Given the description of an element on the screen output the (x, y) to click on. 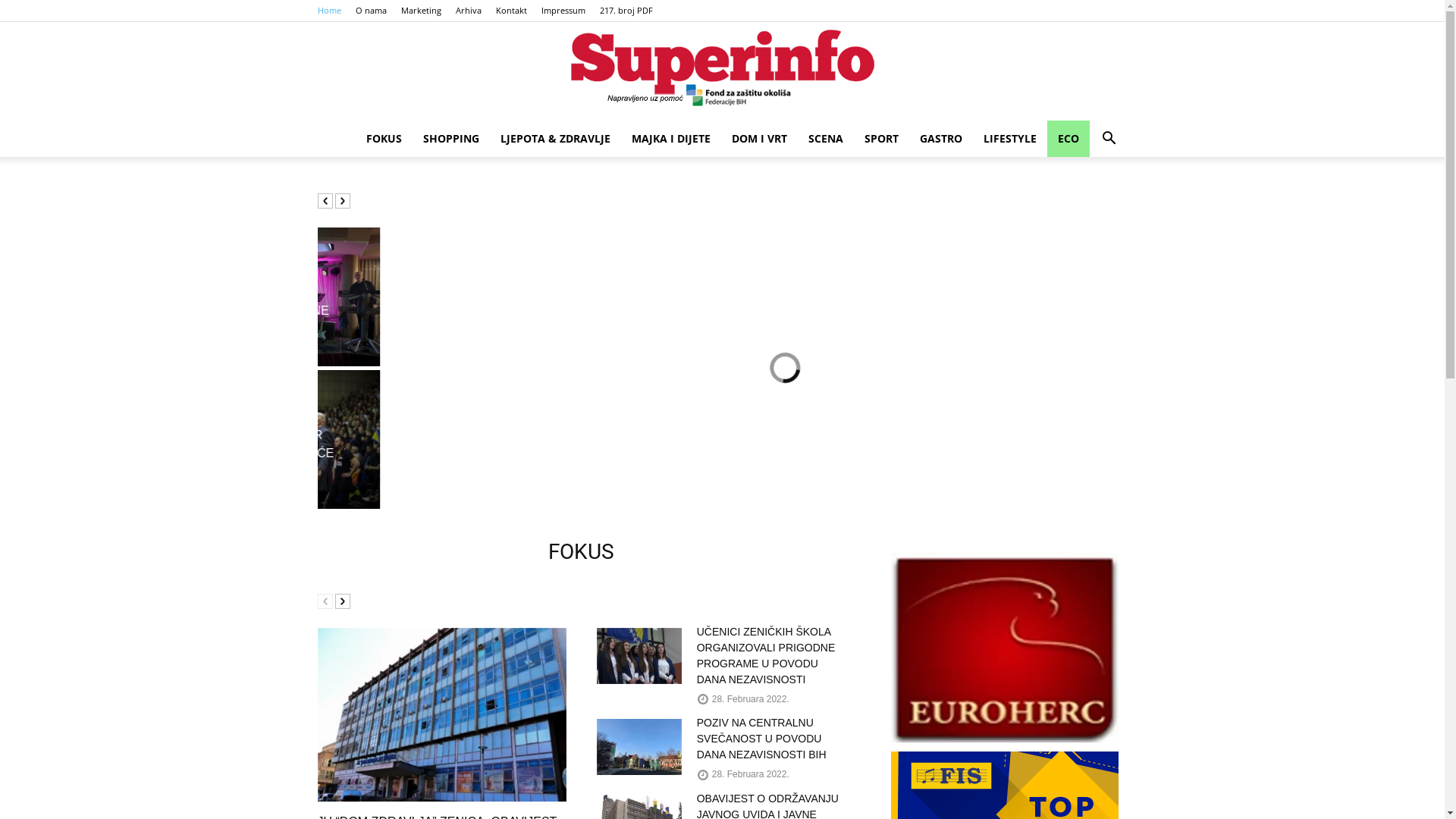
MAJKA I DIJETE Element type: text (670, 138)
Arhiva Element type: text (467, 9)
Home Element type: text (328, 9)
SCENA Element type: text (825, 138)
SPORT Element type: text (881, 138)
Impressum Element type: text (563, 9)
GASTRO Element type: text (940, 138)
SHOPPING Element type: text (450, 138)
217. broj PDF Element type: text (625, 9)
O nama Element type: text (369, 9)
MUP ZDK prodaje 12 vozila Element type: hover (214, 441)
Marketing Element type: text (420, 9)
FOKUS Element type: text (382, 138)
Kontakt Element type: text (511, 9)
DOM I VRT Element type: text (758, 138)
Superinfo Element type: text (722, 72)
ECO Element type: text (1067, 138)
LIFESTYLE Element type: text (1009, 138)
LJEPOTA & ZDRAVLJE Element type: text (555, 138)
